Given the description of an element on the screen output the (x, y) to click on. 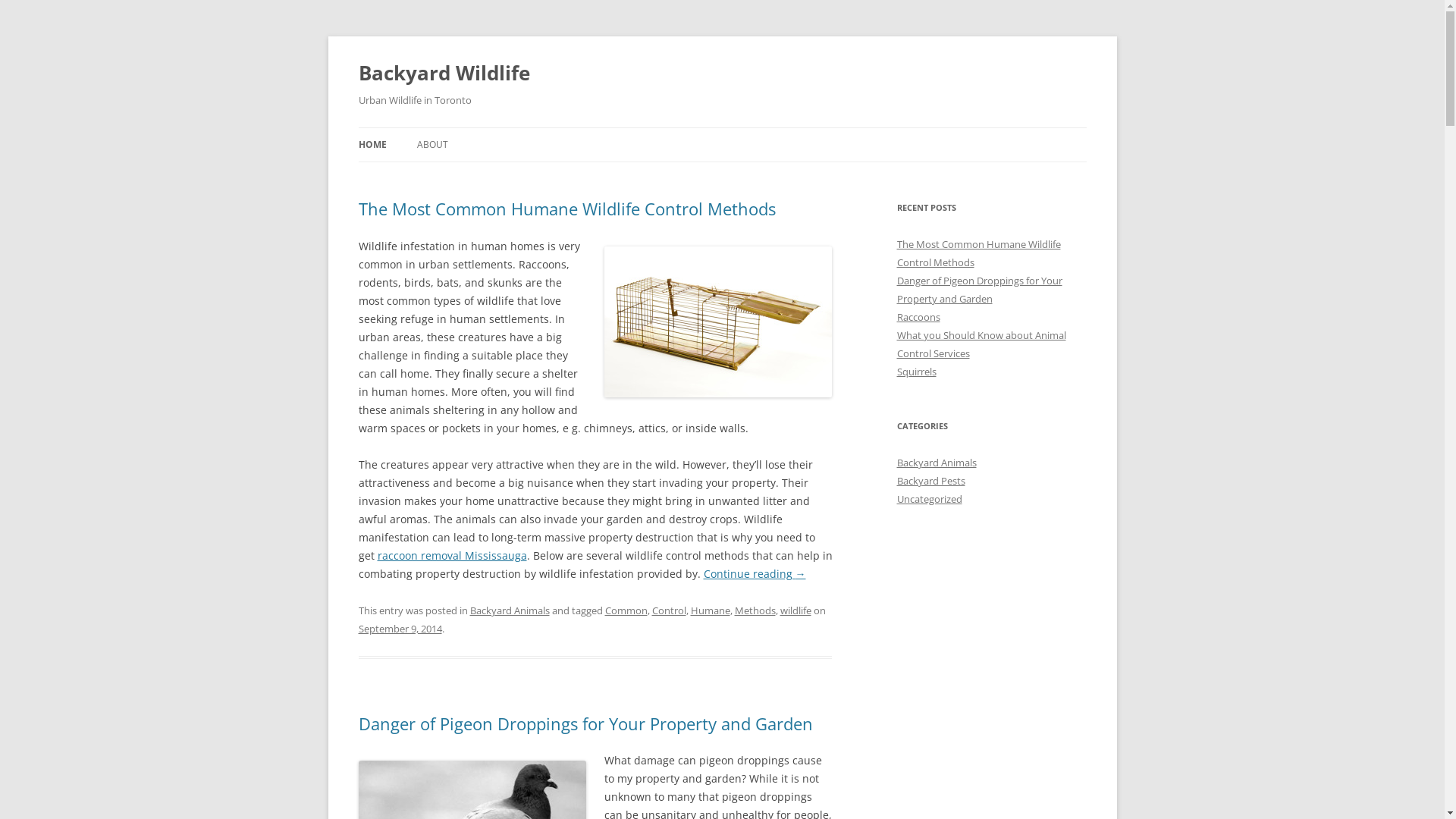
wildlife Element type: text (794, 610)
Humane Element type: text (709, 610)
Methods Element type: text (754, 610)
Danger of Pigeon Droppings for Your Property and Garden Element type: text (978, 289)
HOME Element type: text (371, 144)
September 9, 2014 Element type: text (399, 628)
ABOUT Element type: text (432, 144)
Uncategorized Element type: text (928, 498)
Skip to content Element type: text (721, 127)
What you Should Know about Animal Control Services Element type: text (980, 344)
Common Element type: text (626, 610)
Raccoons Element type: text (917, 316)
Backyard Wildlife Element type: text (443, 72)
The Most Common Humane Wildlife Control Methods Element type: text (566, 208)
raccoon removal Mississauga Element type: text (452, 555)
Control Element type: text (669, 610)
Danger of Pigeon Droppings for Your Property and Garden Element type: text (584, 723)
Squirrels Element type: text (915, 371)
Backyard Animals Element type: text (509, 610)
The Most Common Humane Wildlife Control Methods Element type: text (978, 253)
Backyard Animals Element type: text (935, 462)
Backyard Pests Element type: text (930, 480)
